Given the description of an element on the screen output the (x, y) to click on. 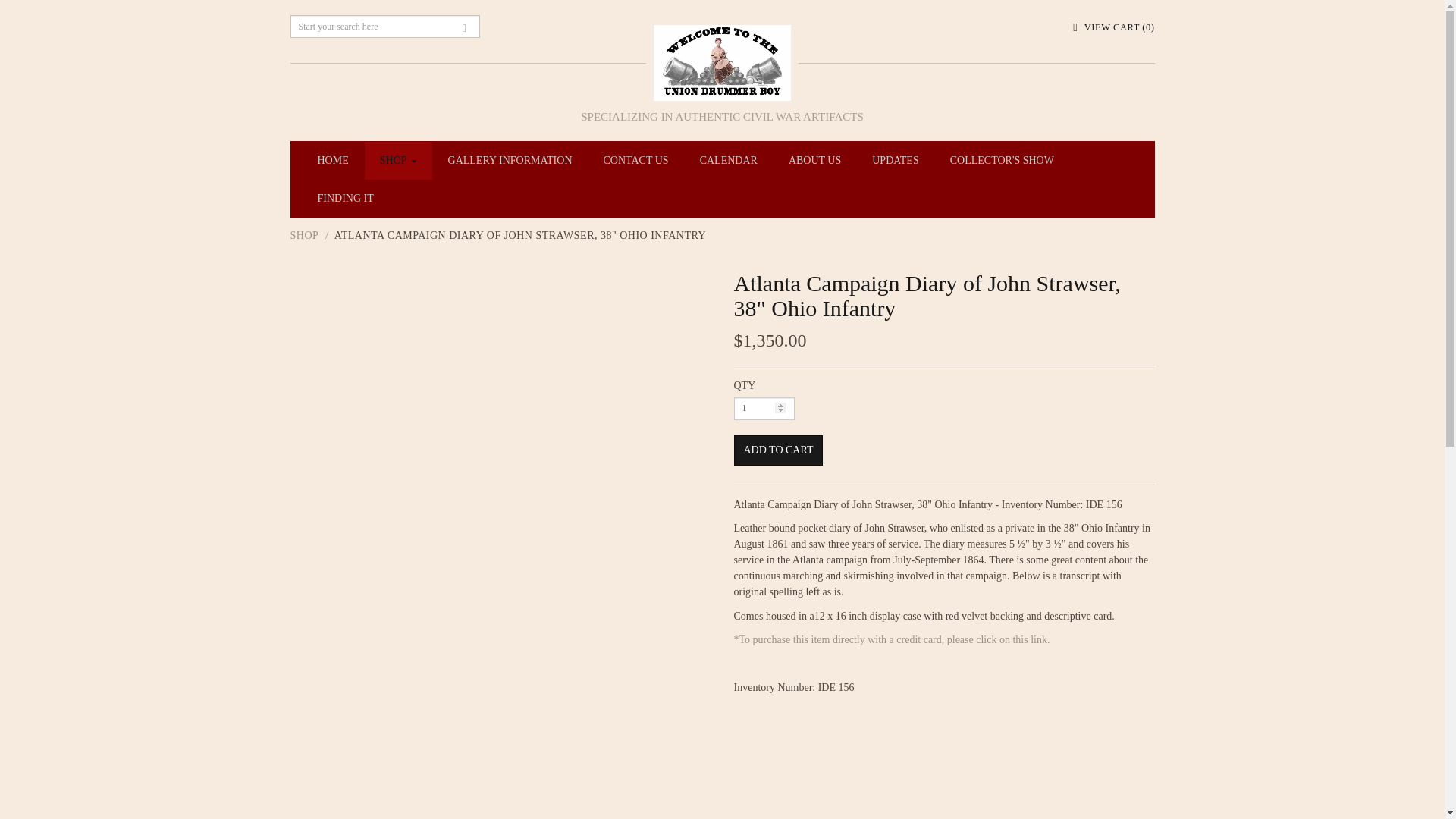
HOME (331, 160)
SHOP (398, 160)
Add to Cart (778, 450)
1 (763, 408)
